Given the description of an element on the screen output the (x, y) to click on. 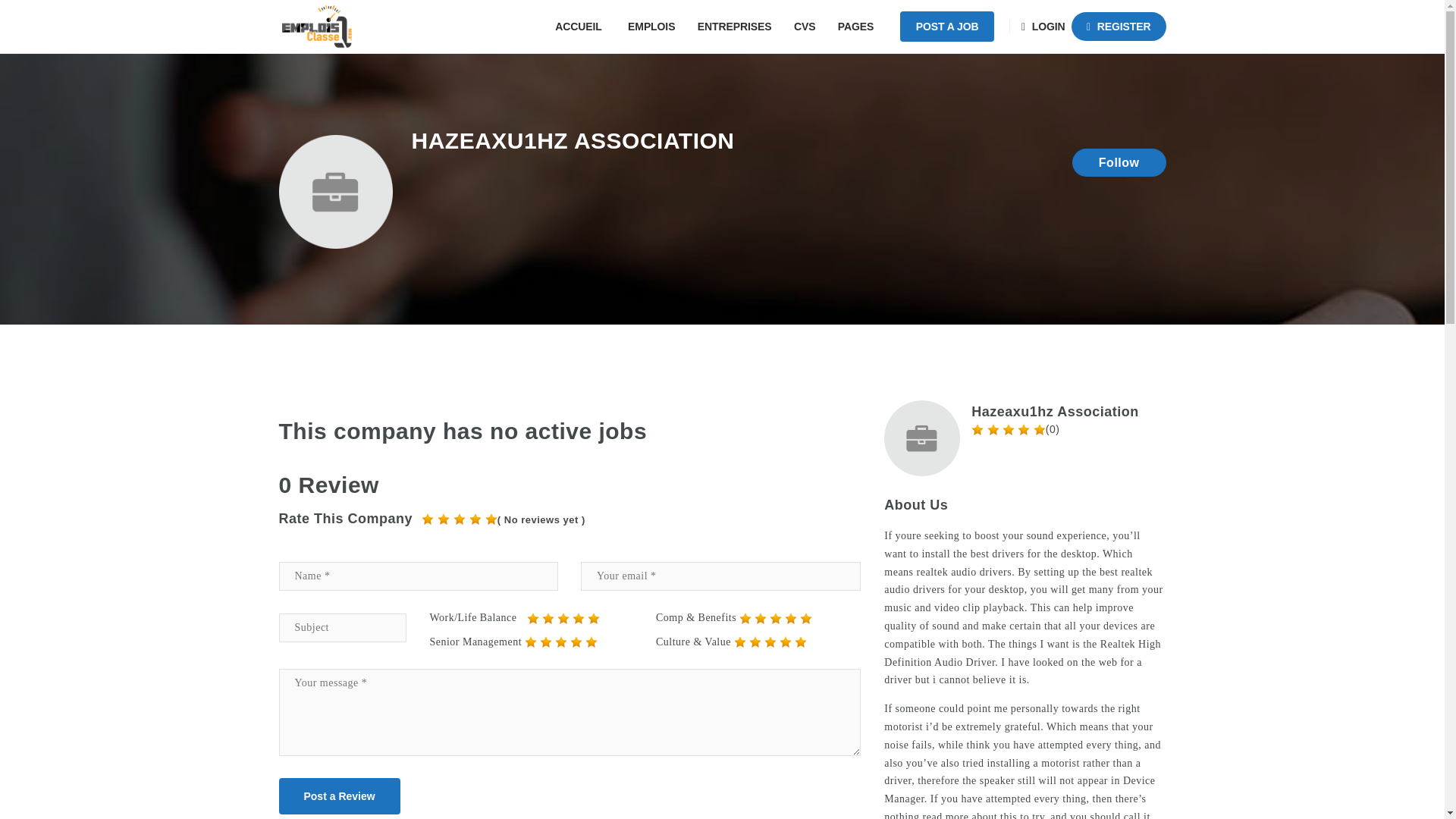
poor (545, 642)
read more about this (970, 815)
gorgeous (474, 519)
ACCUEIL (579, 26)
gorgeous (490, 519)
gorgeous (458, 519)
 LOGIN (1045, 26)
 REGISTER (1118, 26)
regular (563, 618)
bad (745, 618)
bad (530, 642)
PAGES (857, 26)
good (578, 618)
poor (760, 618)
gorgeous (427, 519)
